Given the description of an element on the screen output the (x, y) to click on. 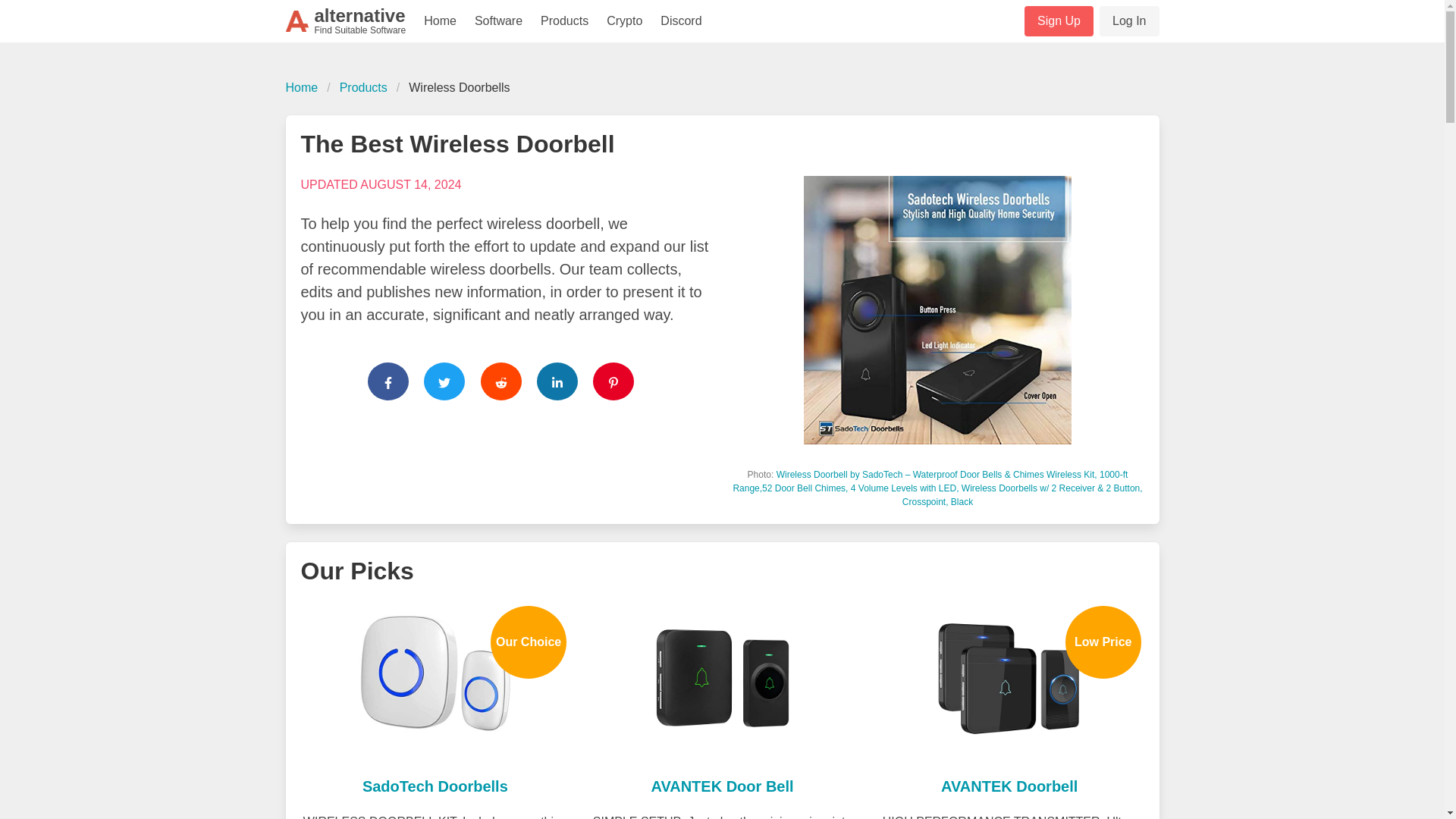
Wireless Doorbells (458, 87)
Products (363, 87)
AVANTEK Door Bell (721, 786)
Home (439, 21)
Crypto (623, 21)
Sign Up (1059, 20)
Discord (345, 21)
SadoTech Doorbells (680, 21)
Home (435, 786)
